Given the description of an element on the screen output the (x, y) to click on. 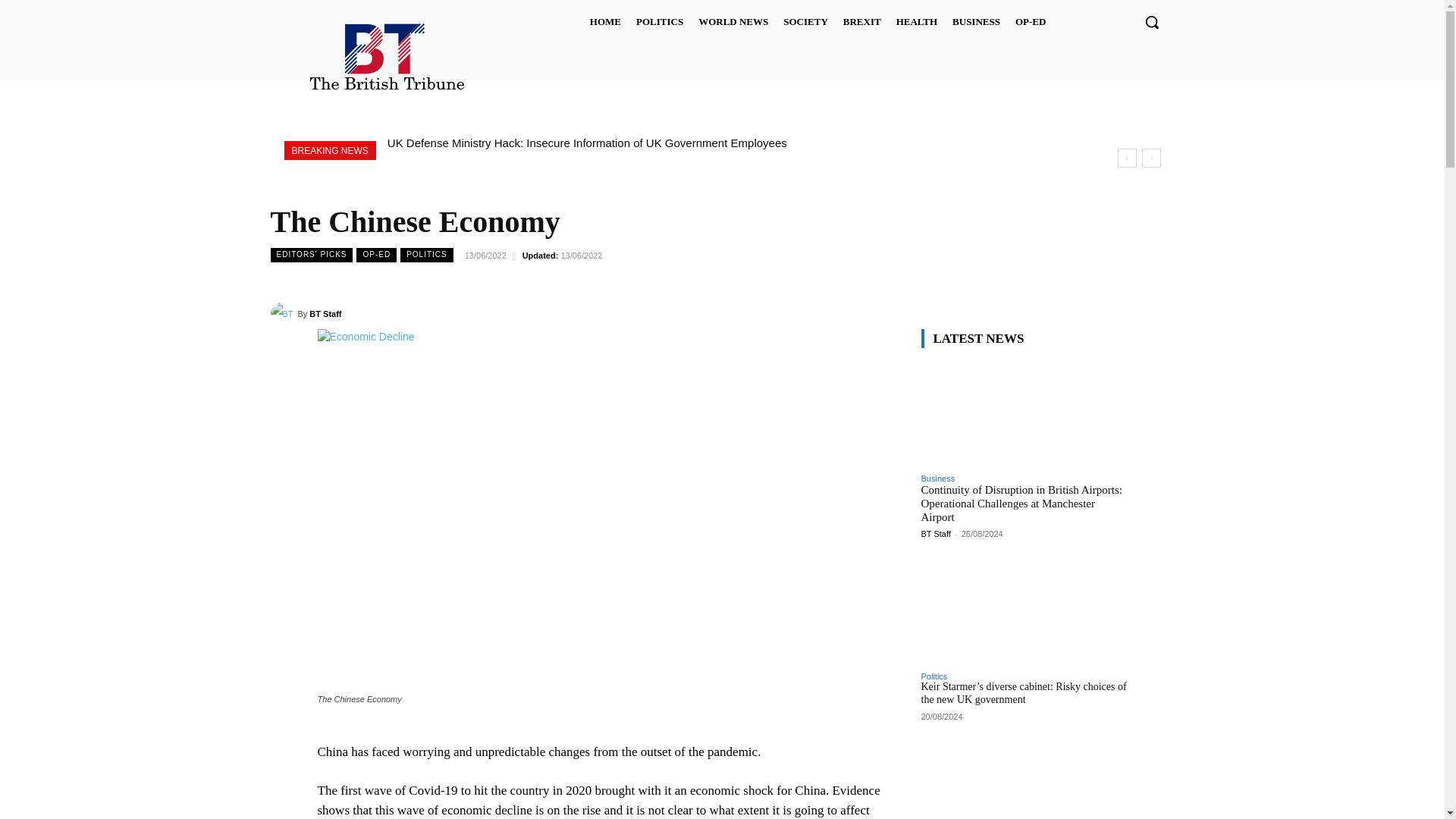
SOCIETY (805, 21)
OP-ED (1030, 21)
HEALTH (916, 21)
HOME (605, 21)
BT Staff (283, 313)
WORLD NEWS (733, 21)
BREXIT (861, 21)
